Given the description of an element on the screen output the (x, y) to click on. 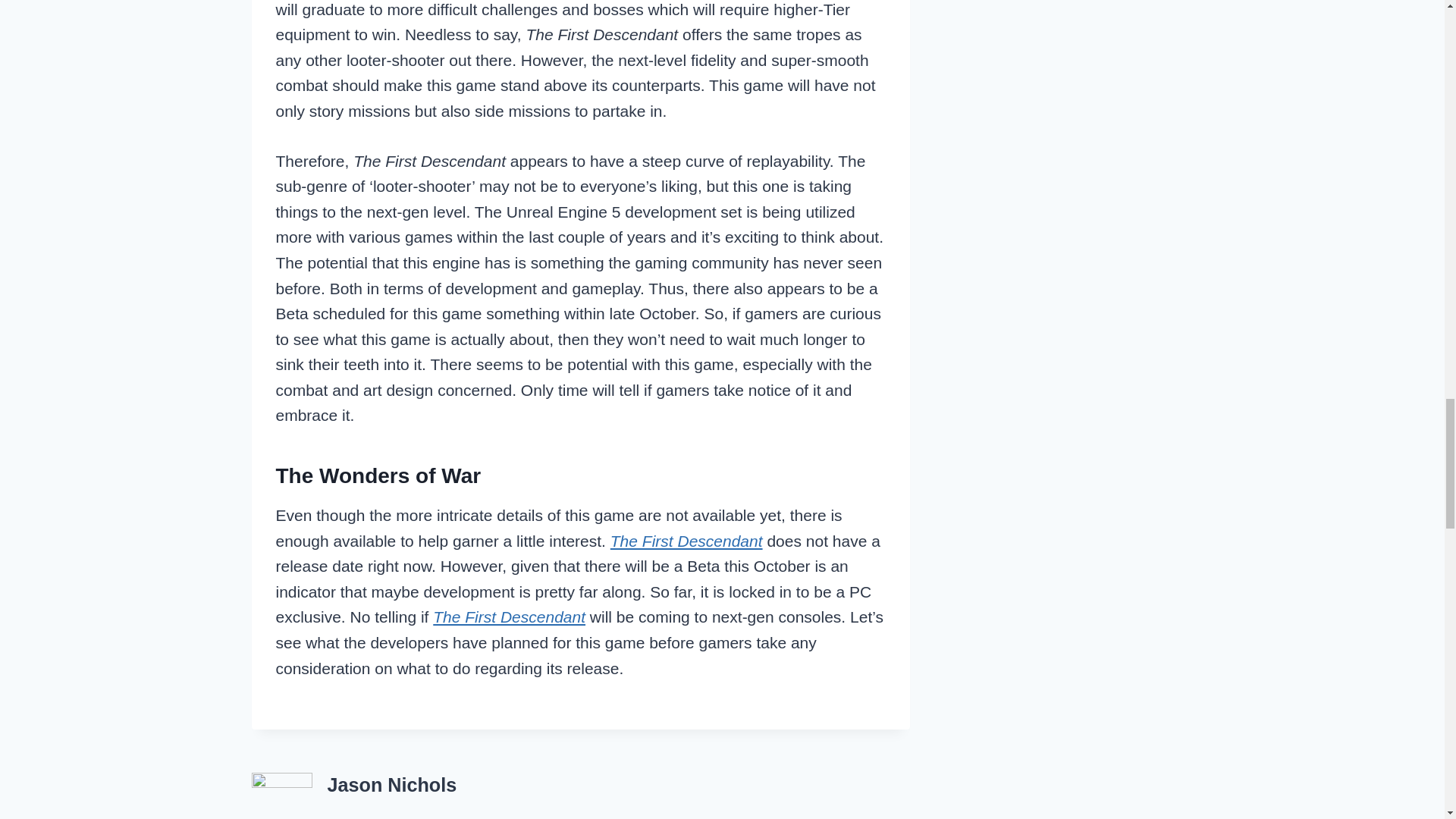
Posts by Jason Nichols (392, 784)
The First Descendant (508, 616)
Jason Nichols (392, 784)
The First Descendant (686, 540)
